Given the description of an element on the screen output the (x, y) to click on. 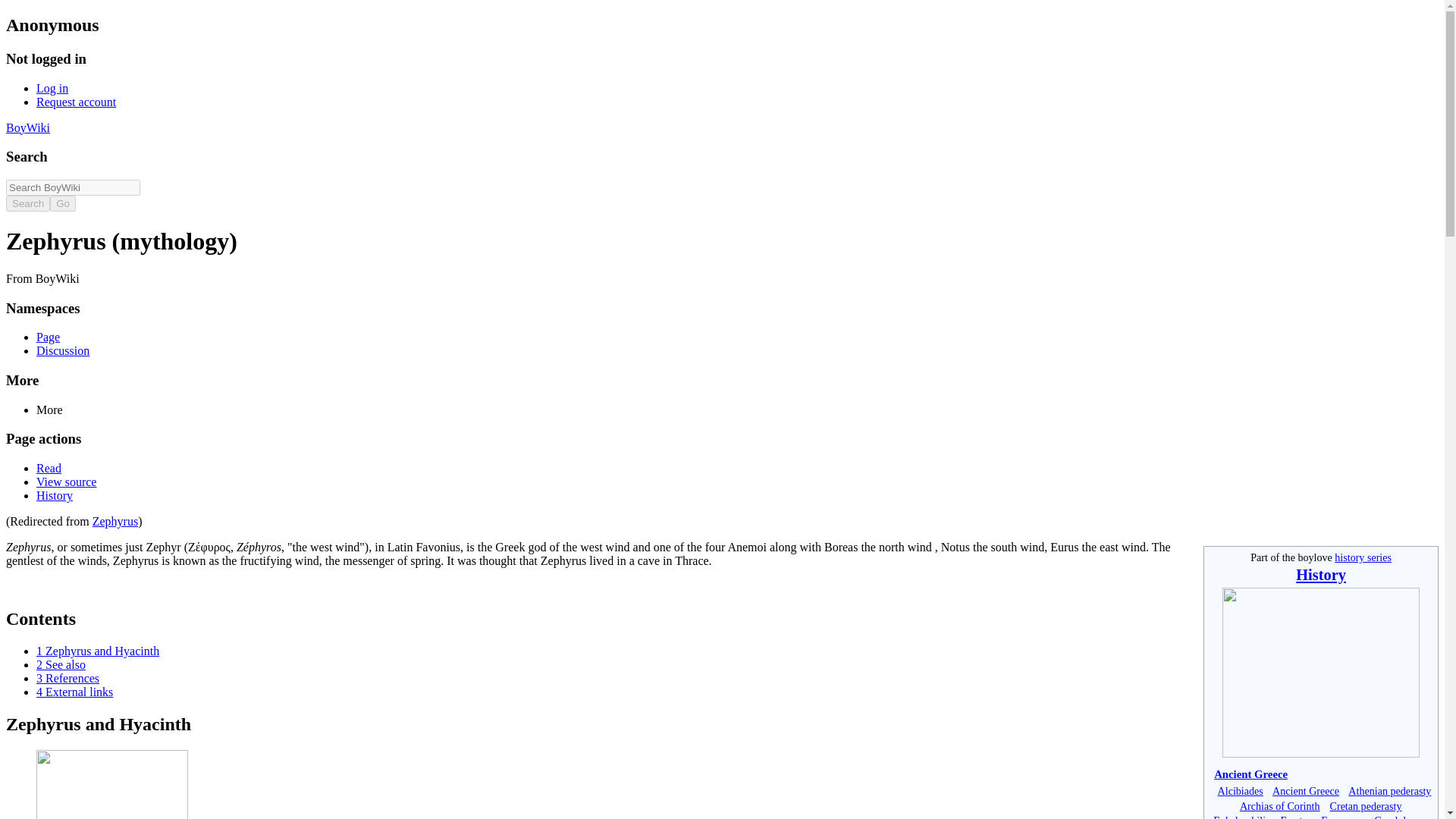
Discussion (62, 350)
Alcibiades (1240, 790)
Eromenos (1342, 816)
Ancient Greece (1305, 790)
Search the pages for this text (27, 203)
Athenian pederasty (1389, 790)
Category:Ancient Greece (1250, 774)
Portal:History (1321, 753)
BoyWiki (27, 127)
history series (1363, 557)
